Given the description of an element on the screen output the (x, y) to click on. 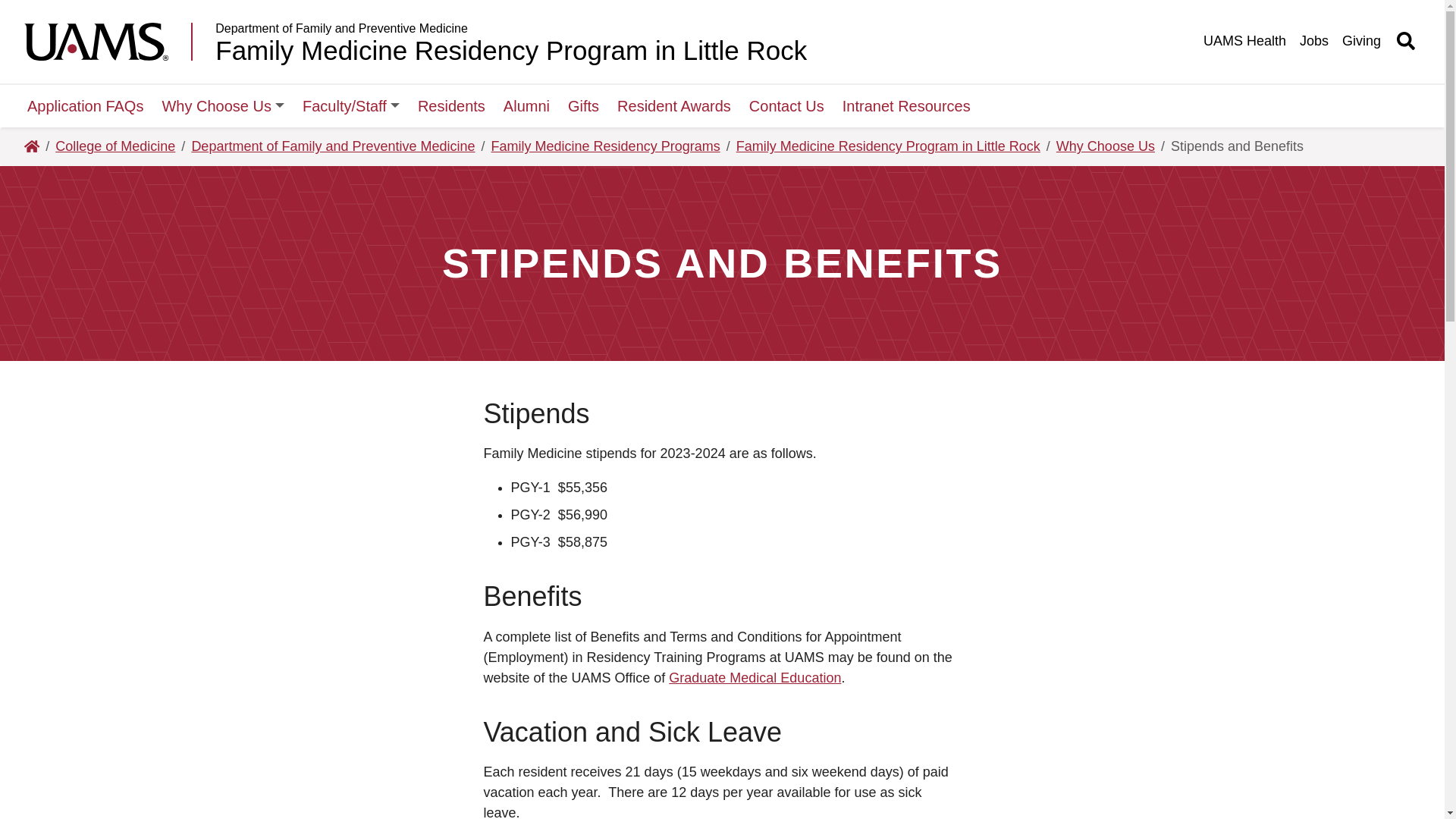
Department of Family and Preventive Medicine (510, 28)
UAMS Health (1243, 40)
University of Arkansas for Medical Sciences (108, 41)
Giving (1361, 40)
Why Choose Us (223, 106)
Why Choose Us (223, 106)
Family Medicine Residency Programs (606, 146)
Family Medicine Residency Program in Little Rock (510, 50)
Application FAQs (84, 106)
Search (944, 15)
